Given the description of an element on the screen output the (x, y) to click on. 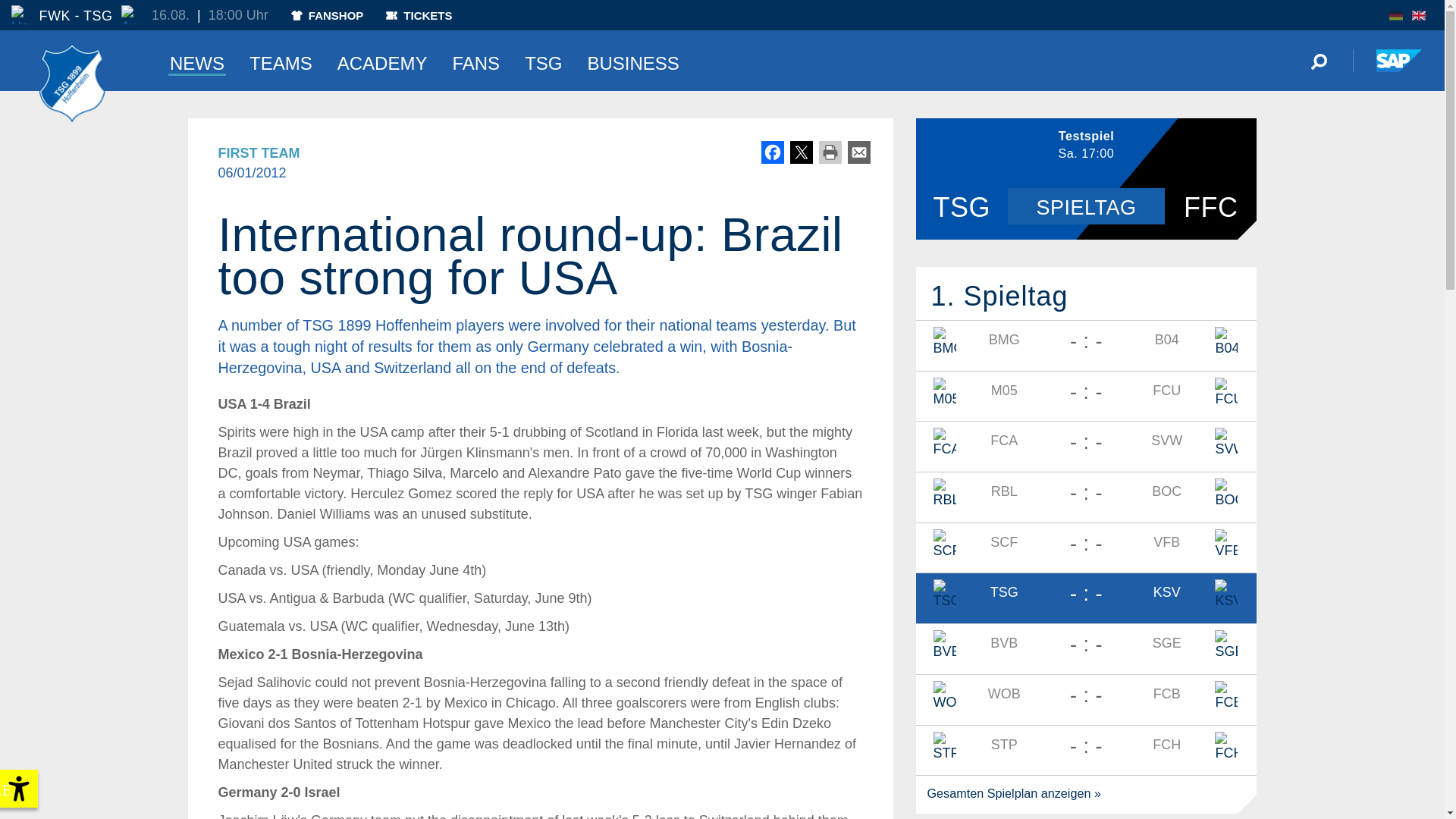
TEAMS (280, 60)
ACADEMY (382, 60)
TICKETS (418, 15)
NEWS (196, 60)
FANSHOP (327, 15)
